Given the description of an element on the screen output the (x, y) to click on. 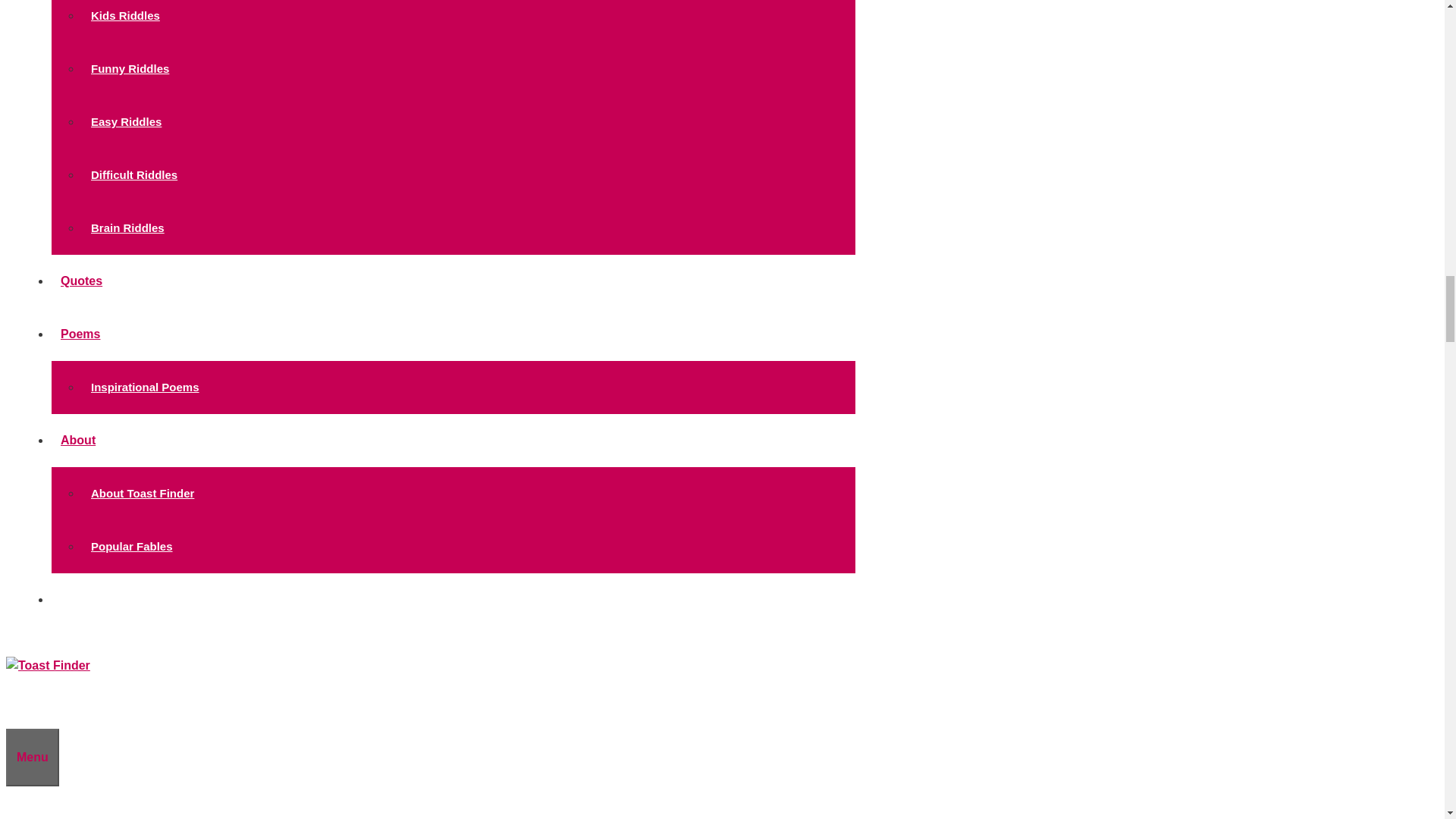
Toast Finder (47, 665)
